Given the description of an element on the screen output the (x, y) to click on. 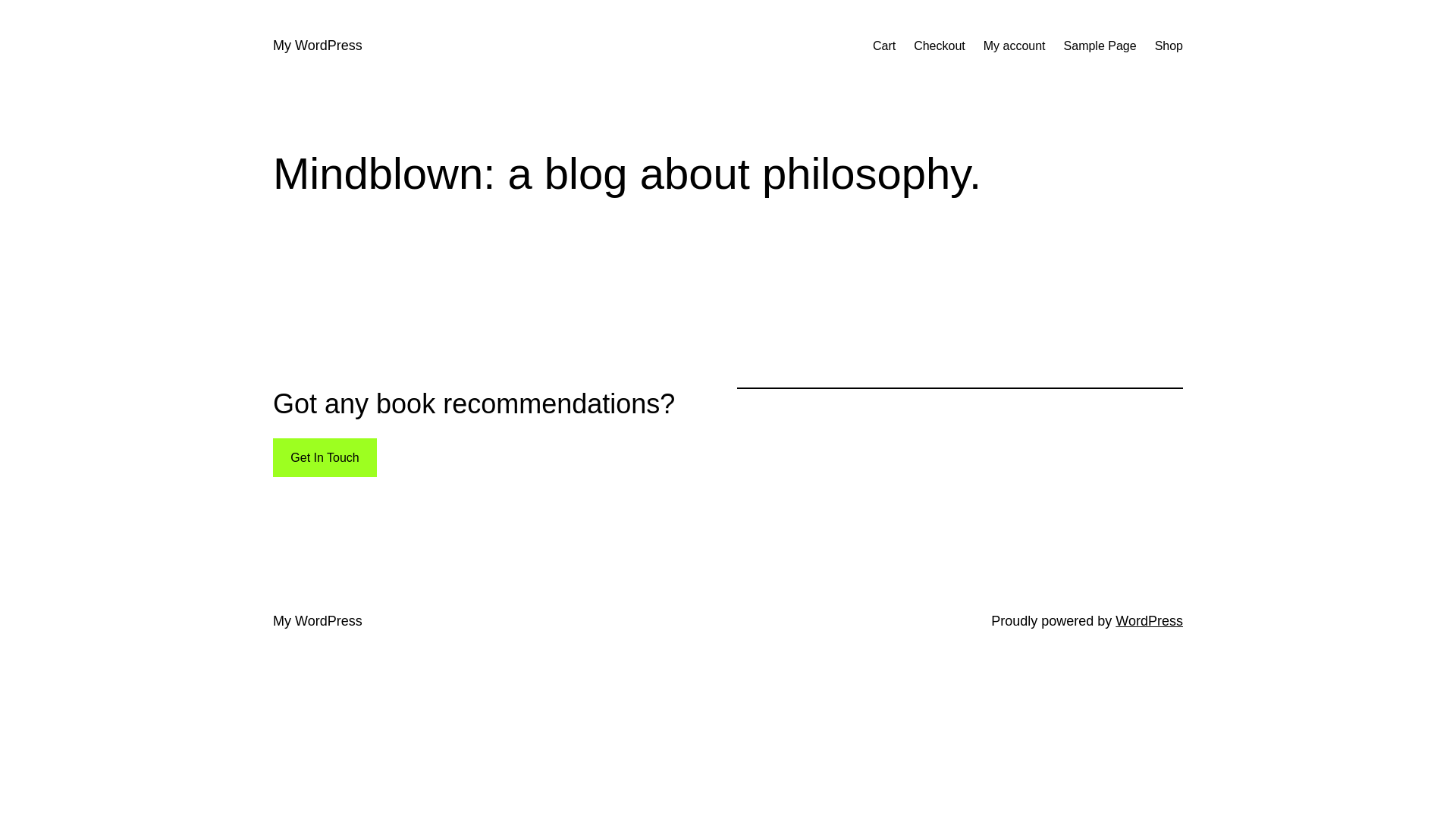
Get In Touch Element type: text (324, 457)
Sample Page Element type: text (1099, 46)
My WordPress Element type: text (317, 45)
WordPress Element type: text (1149, 620)
My account Element type: text (1014, 46)
Cart Element type: text (883, 46)
Checkout Element type: text (939, 46)
My WordPress Element type: text (317, 620)
Shop Element type: text (1168, 46)
